Given the description of an element on the screen output the (x, y) to click on. 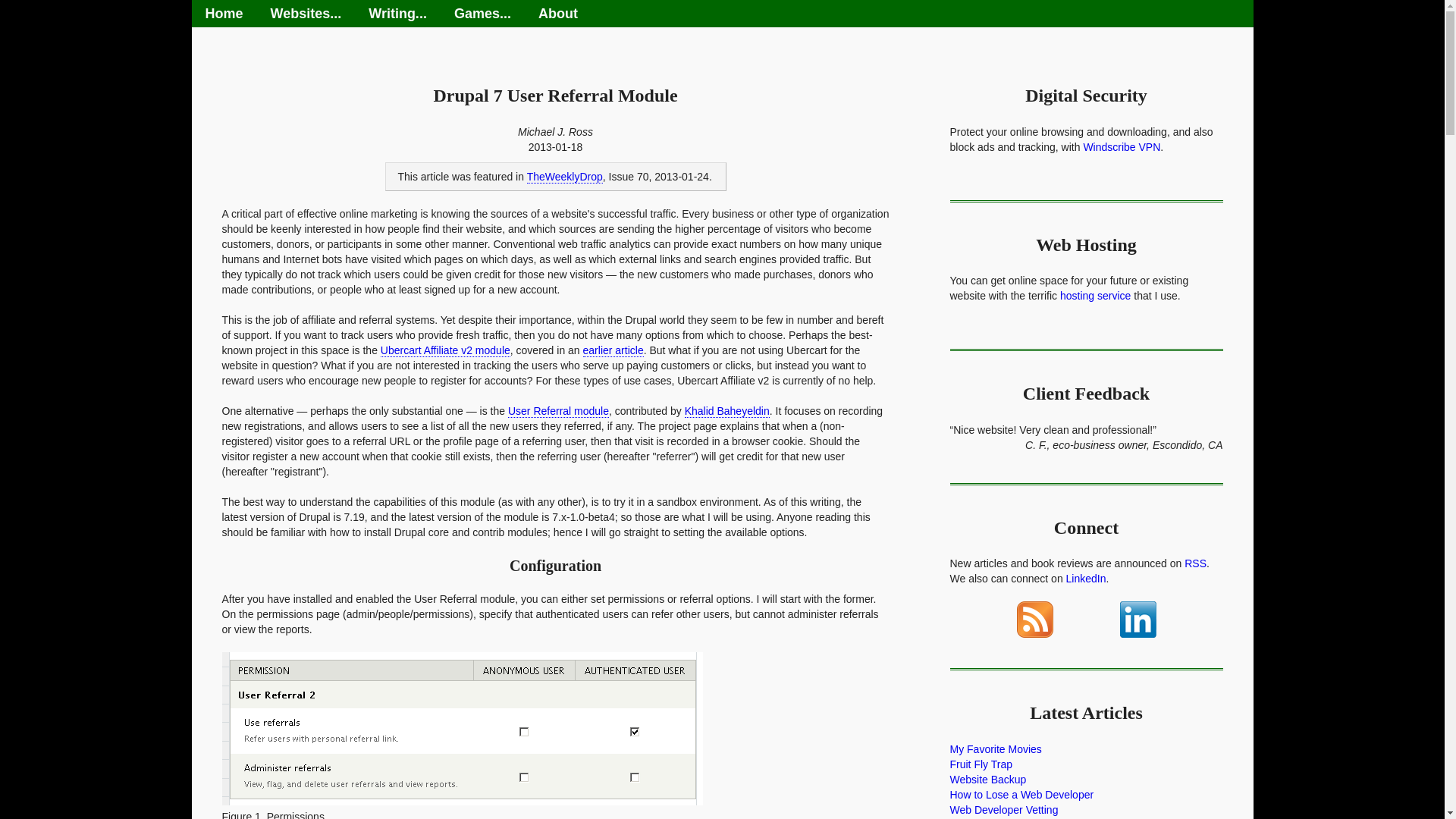
Writing... (398, 14)
Khalid Baheyeldin (727, 410)
Ubercart Affiliate v2 module (445, 350)
earlier article (613, 350)
Home (223, 14)
Games... (482, 14)
Websites... (306, 14)
TheWeeklyDrop (564, 176)
About (557, 14)
User Referral module (558, 410)
